Given the description of an element on the screen output the (x, y) to click on. 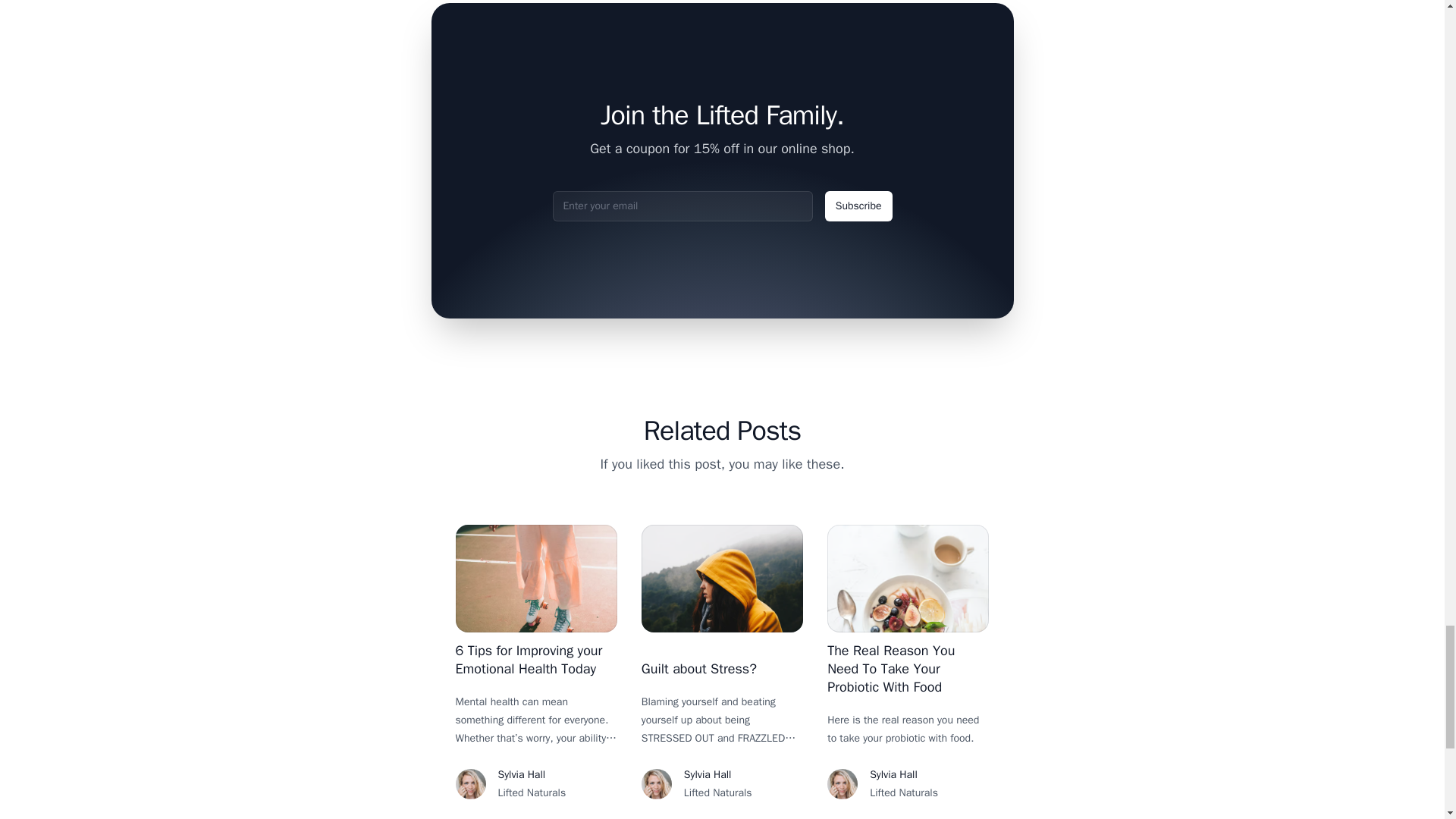
Guilt about Stress? (699, 668)
6 Tips for Improving your Emotional Health Today (528, 659)
The Real Reason You Need To Take Your Probiotic With Food (891, 668)
Subscribe (858, 205)
